Given the description of an element on the screen output the (x, y) to click on. 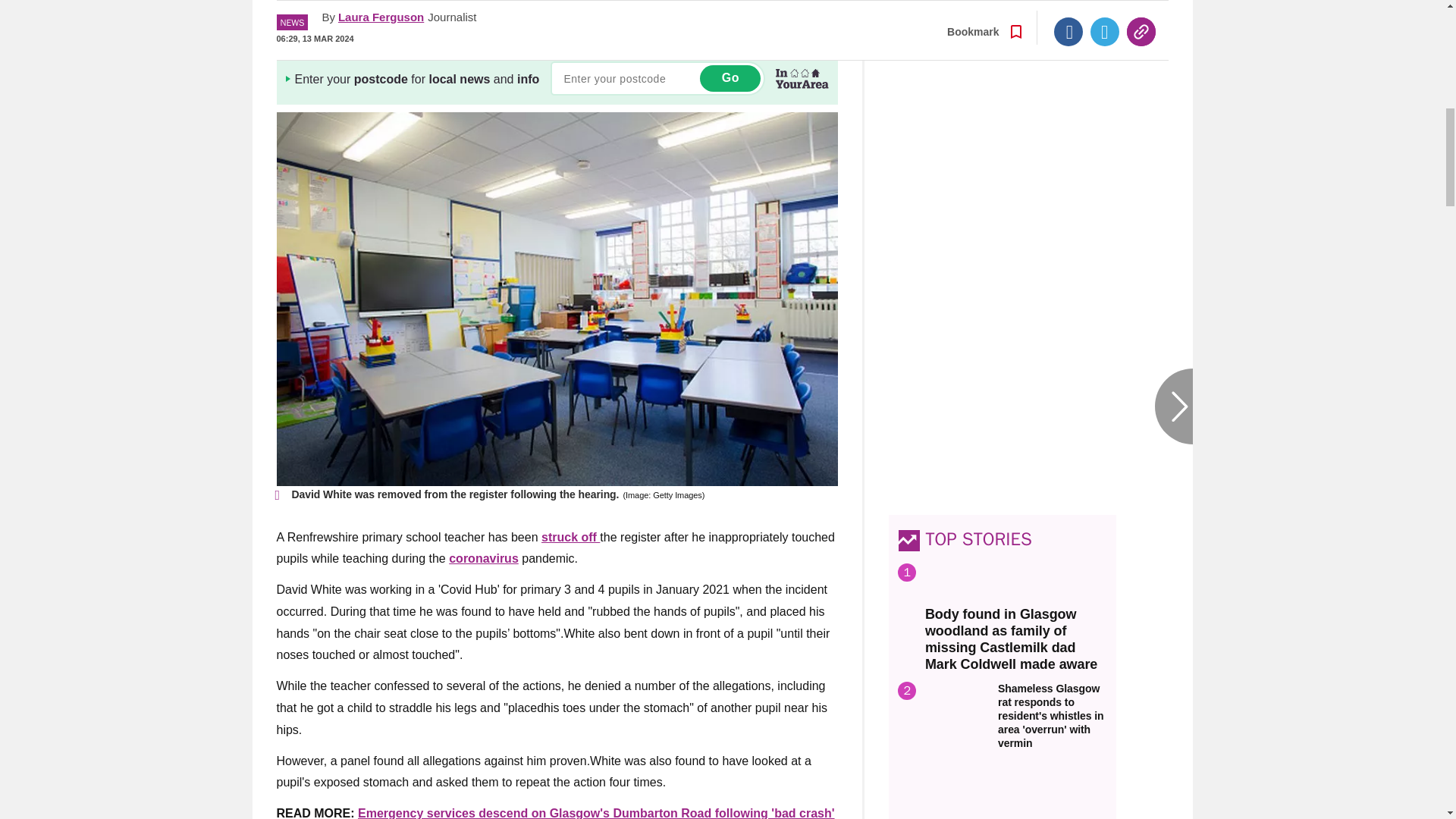
Twitter (1104, 10)
Go (730, 78)
Facebook (1068, 10)
